Given the description of an element on the screen output the (x, y) to click on. 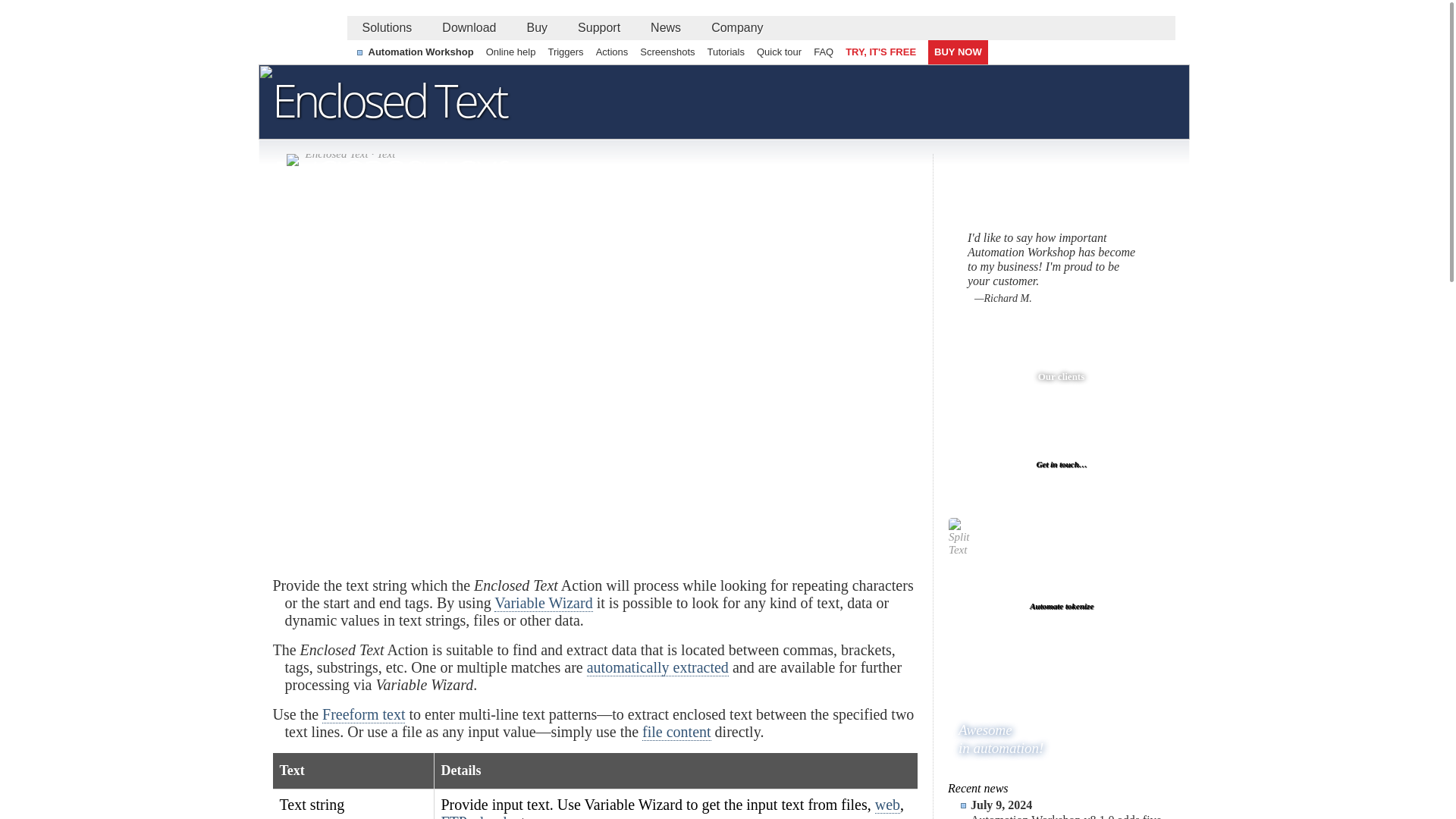
FTP (453, 816)
FAQ (824, 52)
Solutions (387, 27)
Quick tour (779, 52)
Variable Wizard (543, 602)
Screenshots (666, 52)
Buy (536, 27)
Actions (611, 52)
Download (468, 27)
Company (736, 27)
Freeform text (362, 714)
cloud (489, 816)
Febooti, Ltd. (301, 44)
web (887, 805)
Tutorials (726, 52)
